Given the description of an element on the screen output the (x, y) to click on. 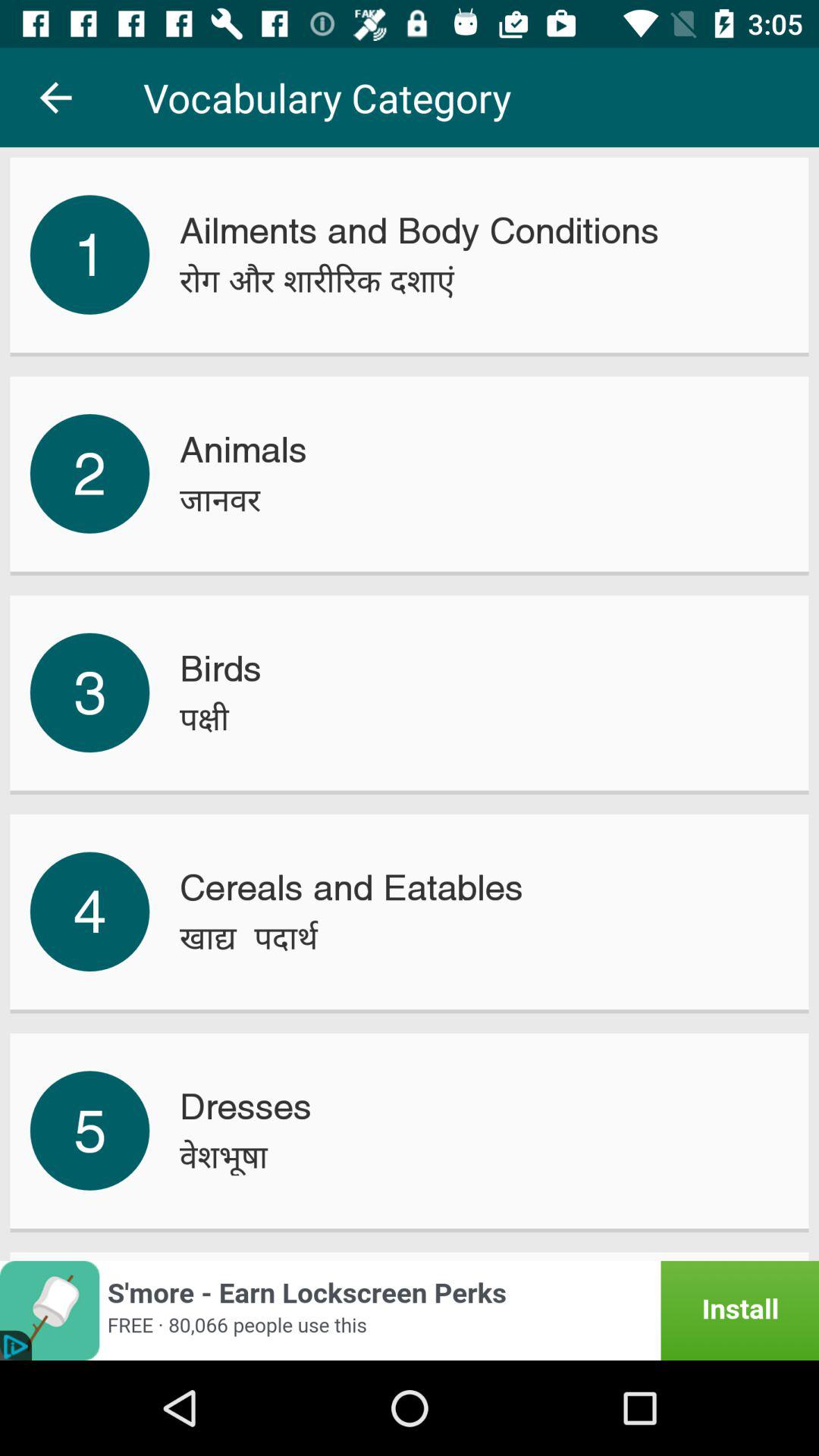
tap the cereals and eatables (351, 887)
